Given the description of an element on the screen output the (x, y) to click on. 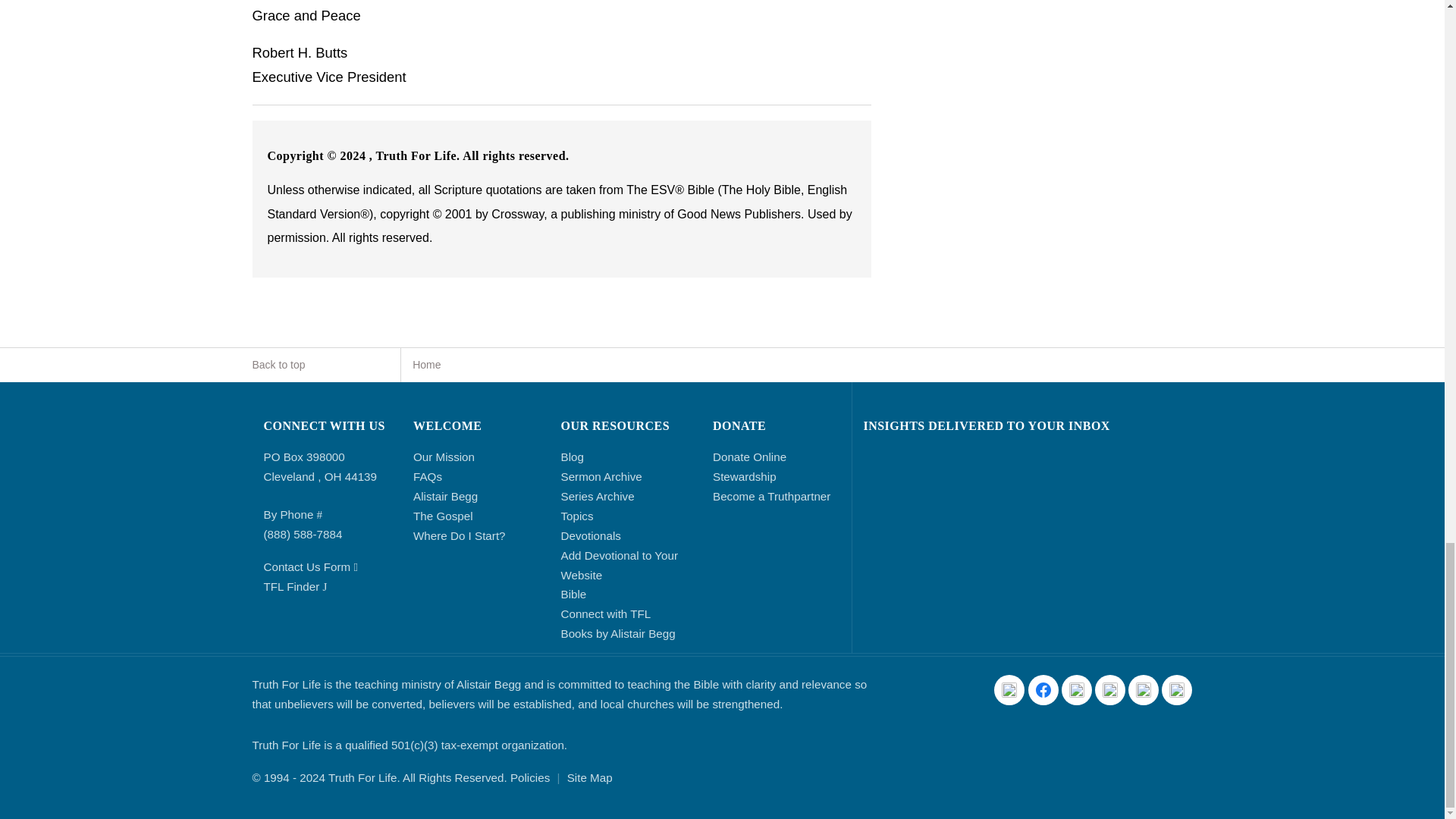
YouTube (1076, 689)
TikTok (1143, 689)
Facebook (1042, 689)
Instagram (1109, 689)
Twitter (1009, 689)
